Given the description of an element on the screen output the (x, y) to click on. 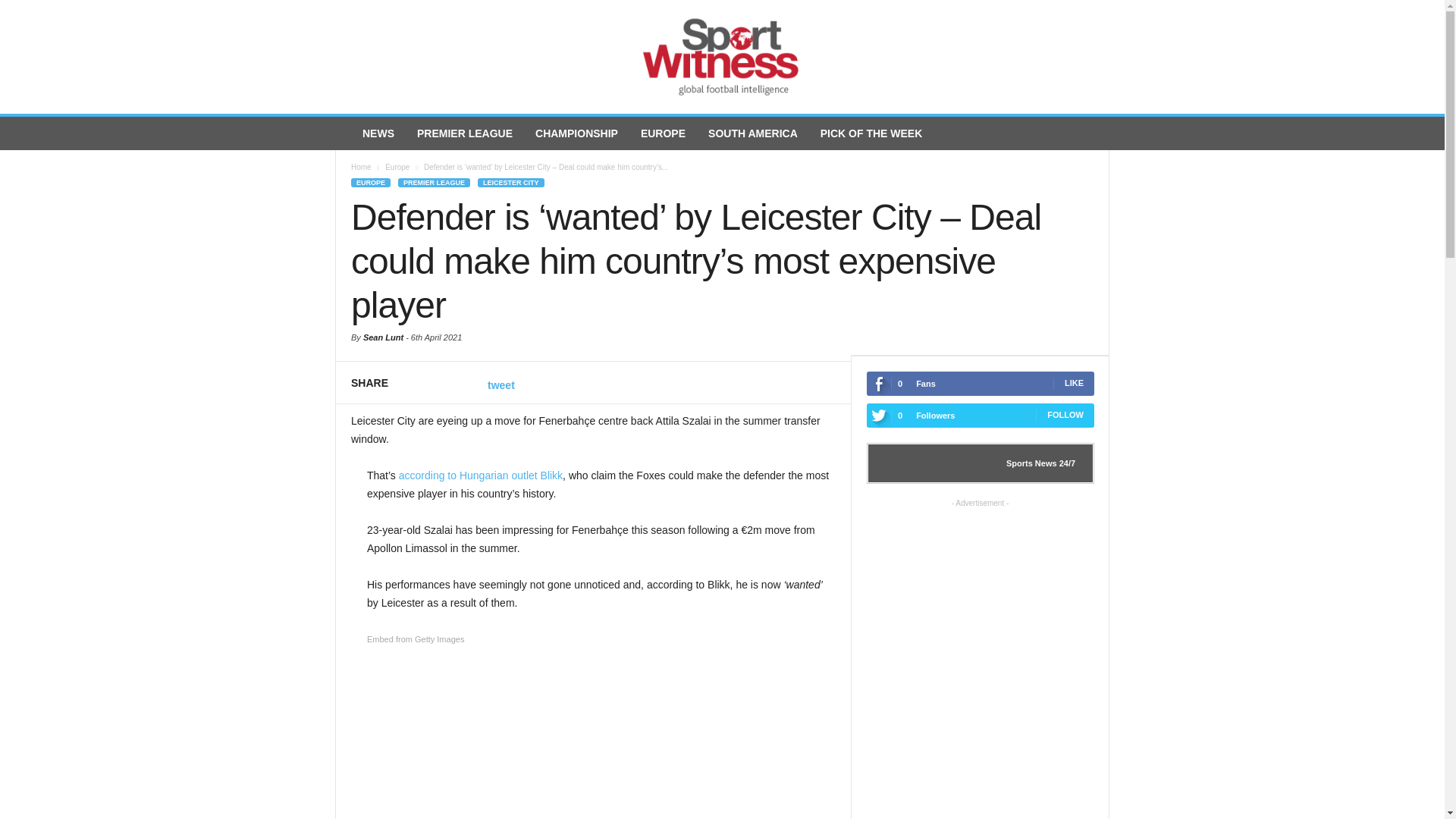
Sportwitness (722, 56)
